Given the description of an element on the screen output the (x, y) to click on. 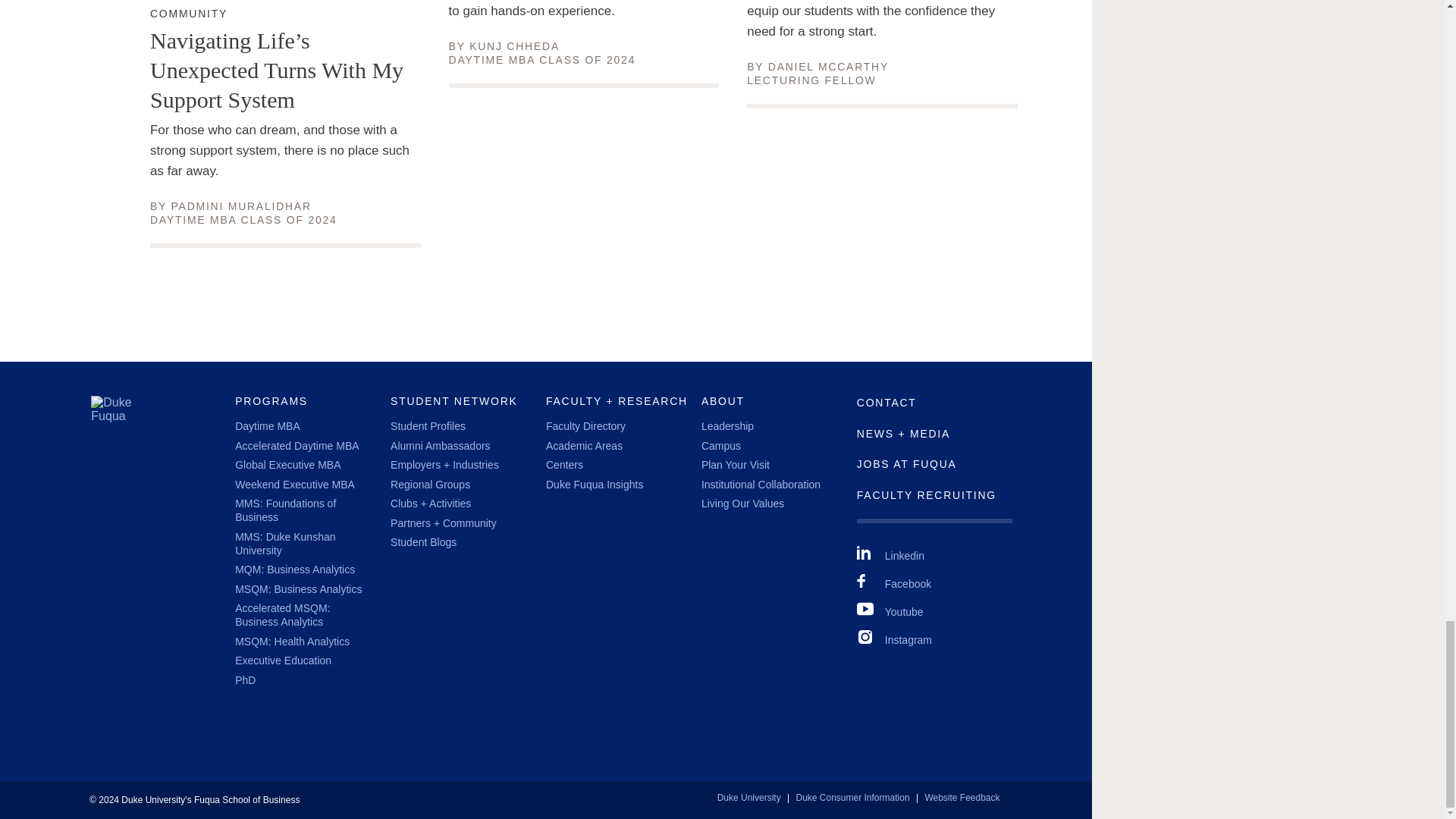
Weekend Executive MBA (241, 205)
Accelerated MSQM: Business Analytics (294, 484)
MSQM: Business Analytics (282, 614)
MQM: Business Analytics (297, 589)
MMS: Foundations of Business (294, 569)
Accelerated Daytime MBA (188, 14)
MSQM: Health Analytics (285, 510)
Global Executive MBA (828, 66)
MMS: Duke Kunshan University (513, 46)
Executive Education (296, 445)
PhD (291, 641)
